Given the description of an element on the screen output the (x, y) to click on. 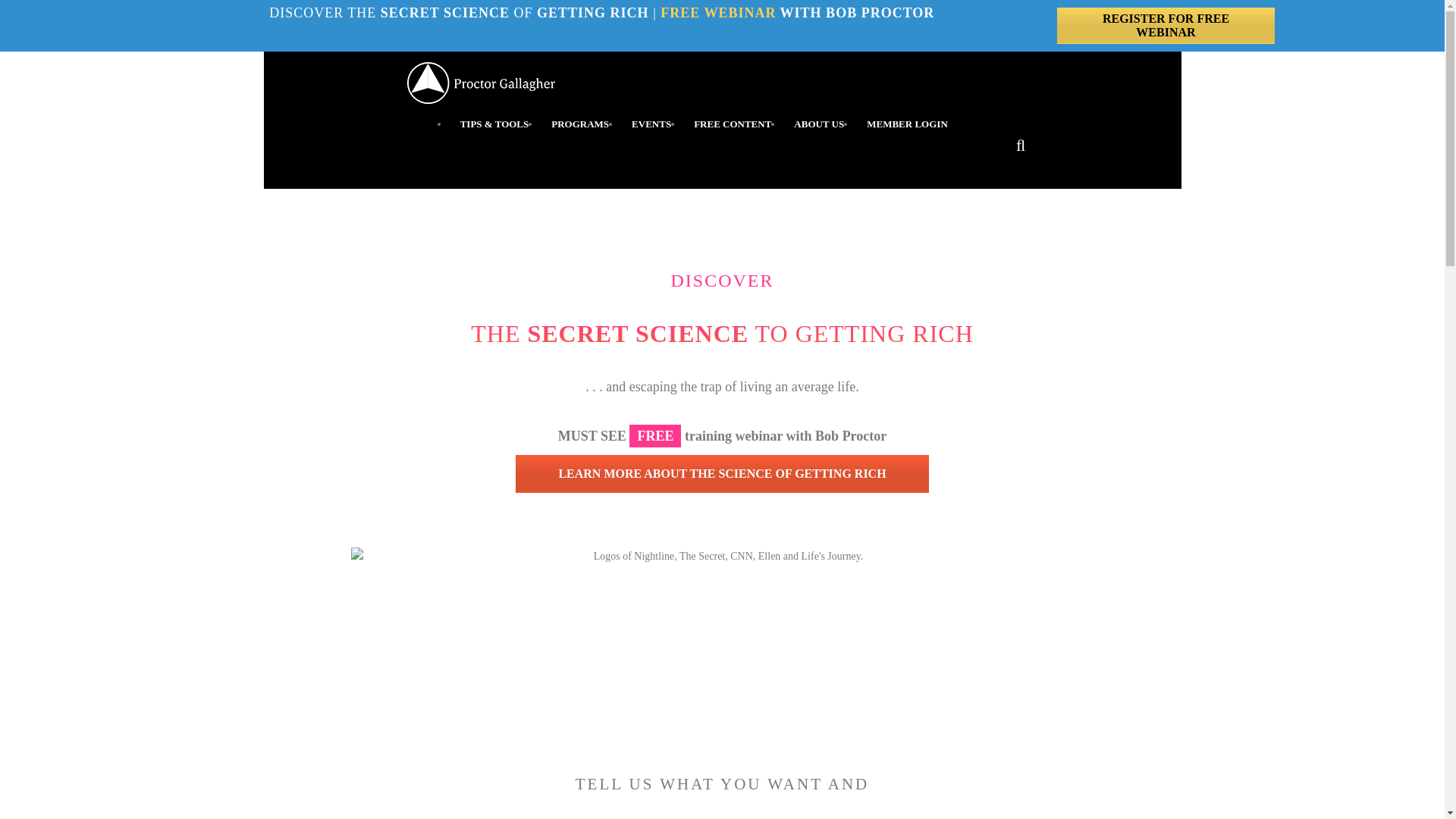
FREE CONTENT (732, 124)
LEARN MORE ABOUT THE SCIENCE OF GETTING RICH (721, 474)
REGISTER FOR FREE WEBINAR (1166, 25)
PROGRAMS (580, 124)
EVENTS (651, 124)
home-as-seen-tv-gray-978 (721, 596)
MEMBER LOGIN (907, 124)
ABOUT US (819, 124)
